Given the description of an element on the screen output the (x, y) to click on. 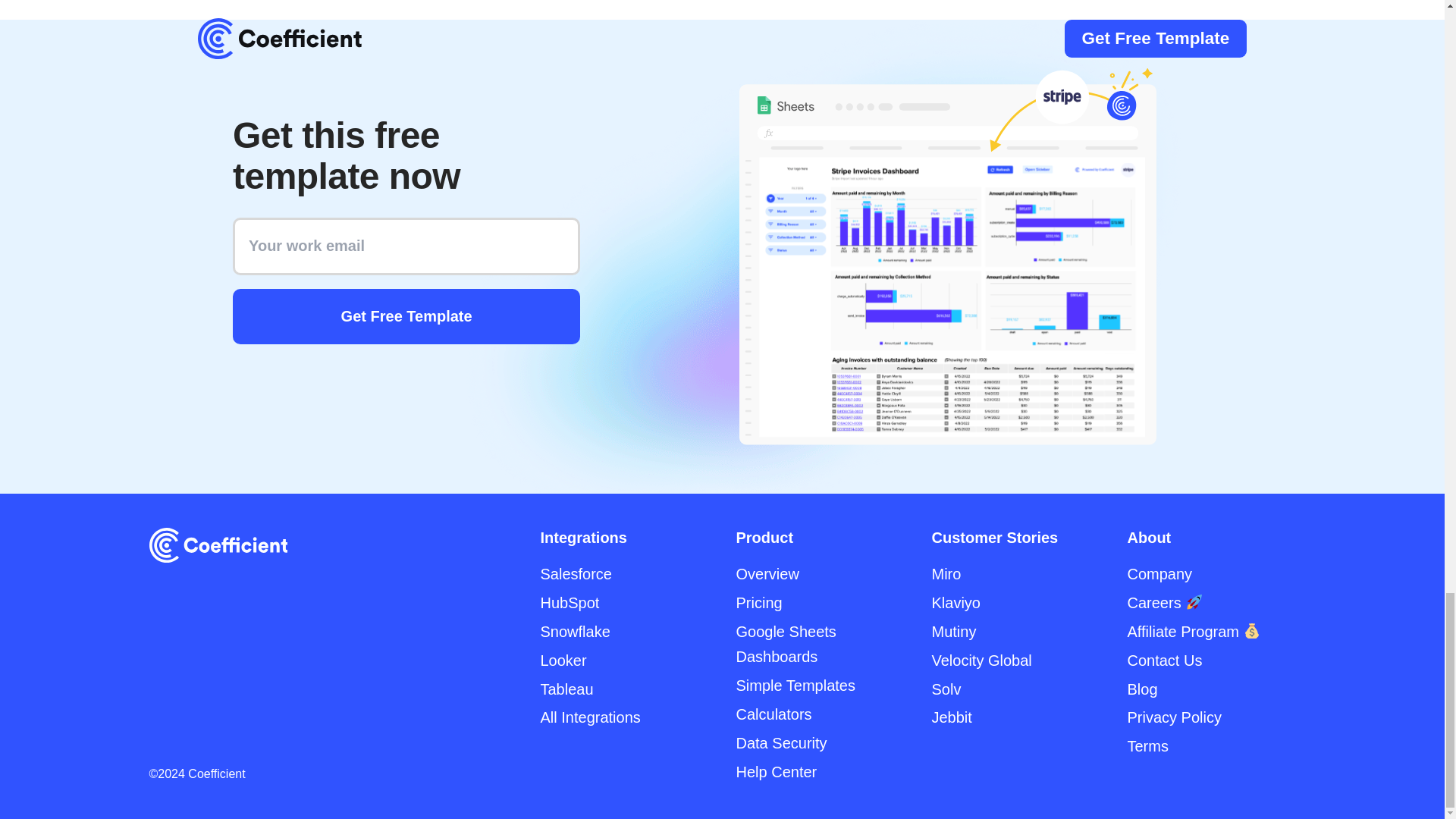
Looker (563, 660)
Tableau (566, 688)
Pricing (758, 602)
Google Sheets Dashboards (785, 644)
Calculators (772, 713)
Get Free Template (405, 316)
Overview (766, 573)
Mutiny (953, 631)
Klaviyo (955, 602)
Help Center (775, 771)
Simple Templates (794, 685)
All Integrations (590, 717)
Snowflake (575, 631)
Velocity Global (980, 660)
HubSpot (569, 602)
